Given the description of an element on the screen output the (x, y) to click on. 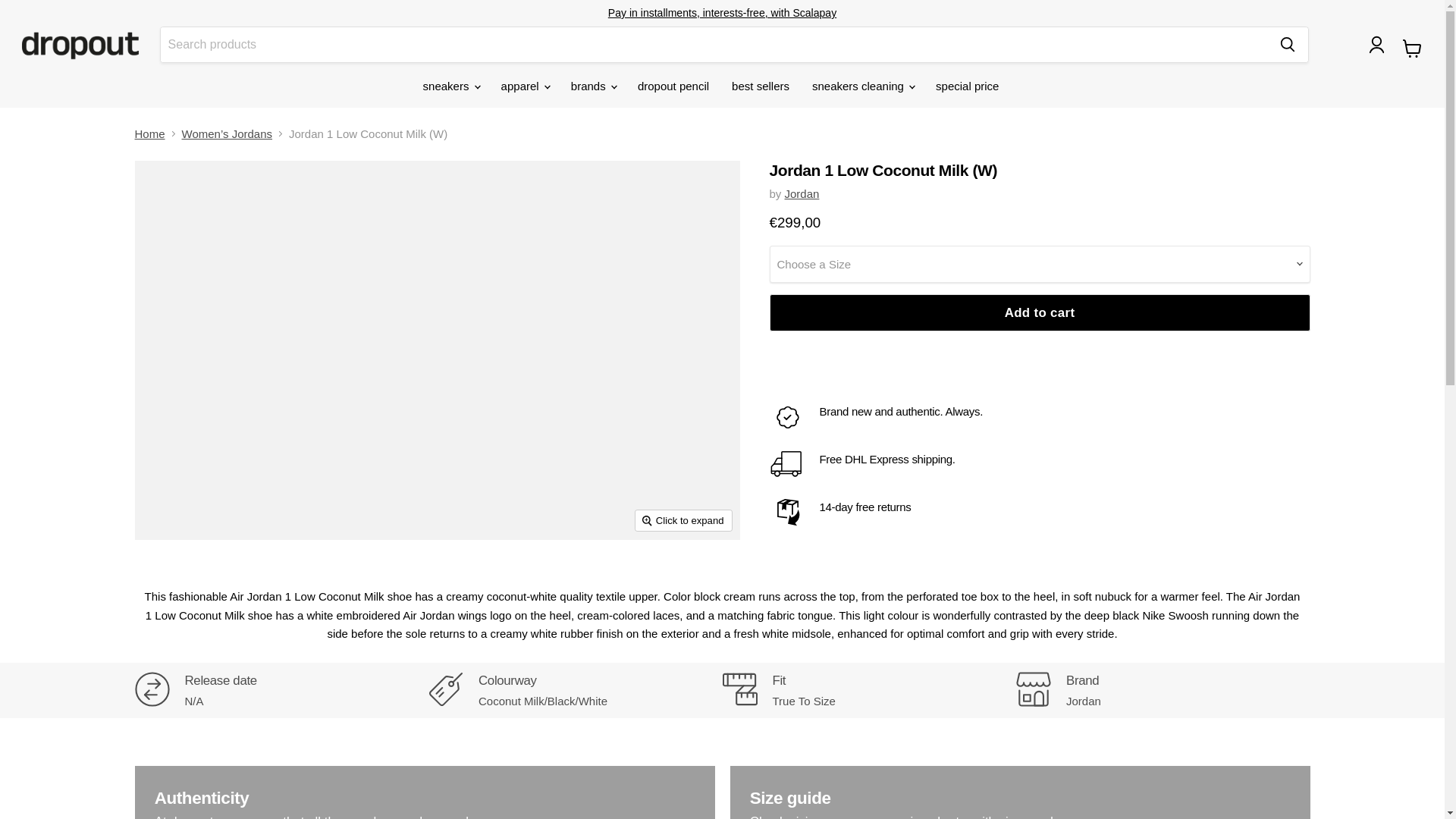
View cart (1411, 48)
Jordan (801, 193)
